Given the description of an element on the screen output the (x, y) to click on. 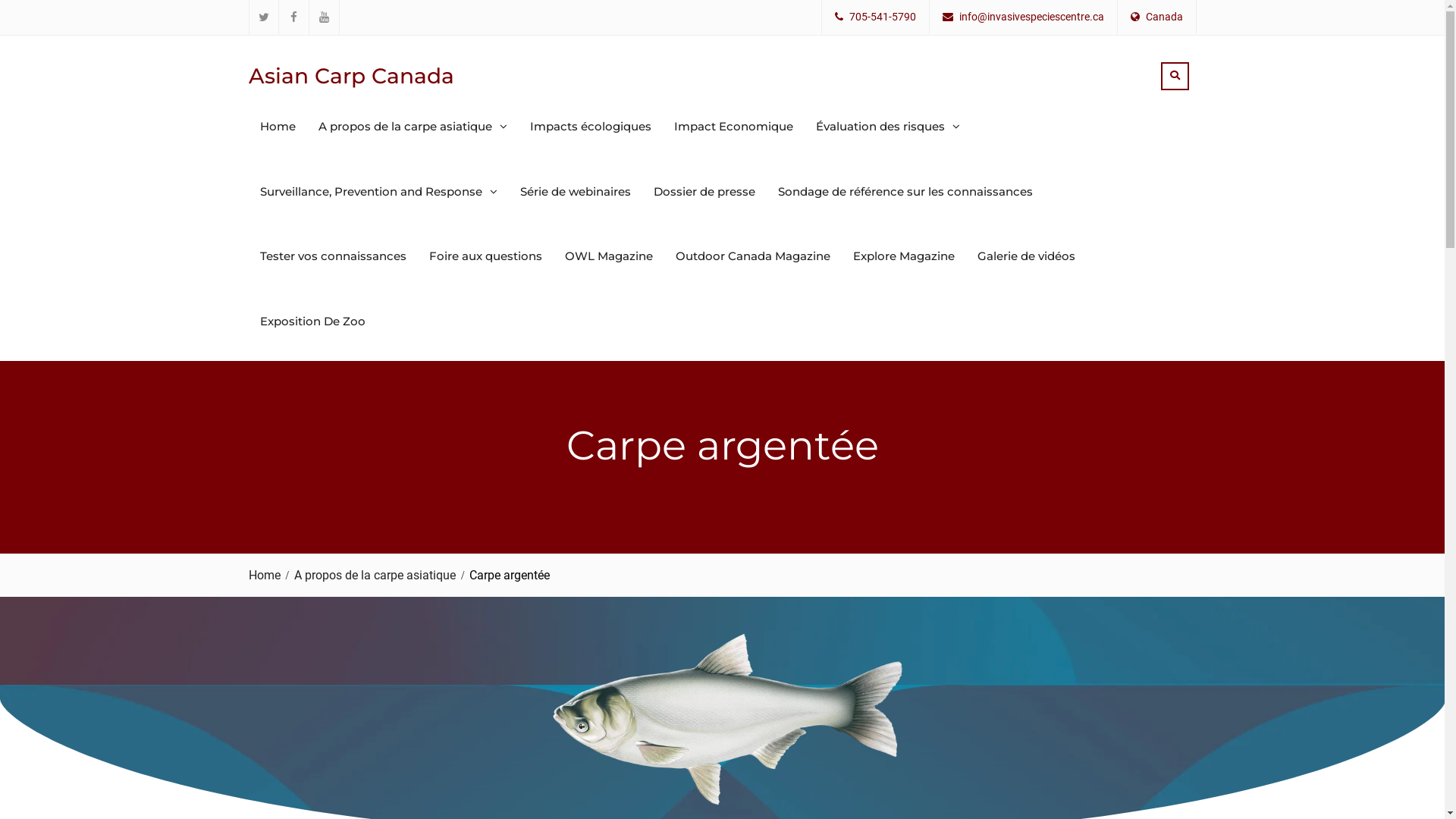
Explore Magazine Element type: text (903, 255)
A propos de la carpe asiatique Element type: text (411, 126)
OWL Magazine Element type: text (608, 255)
Outdoor Canada Magazine Element type: text (752, 255)
Asian Carp Canada Element type: text (351, 74)
Home Element type: text (277, 126)
Home Element type: text (268, 574)
Tester vos connaissances Element type: text (332, 255)
Dossier de presse Element type: text (703, 191)
705-541-5790 Element type: text (882, 16)
info@invasivespeciescentre.ca Element type: text (1030, 16)
Foire aux questions Element type: text (484, 255)
Impact Economique Element type: text (733, 126)
A propos de la carpe asiatique Element type: text (379, 574)
Surveillance, Prevention and Response Element type: text (378, 191)
Exposition De Zoo Element type: text (312, 321)
